Given the description of an element on the screen output the (x, y) to click on. 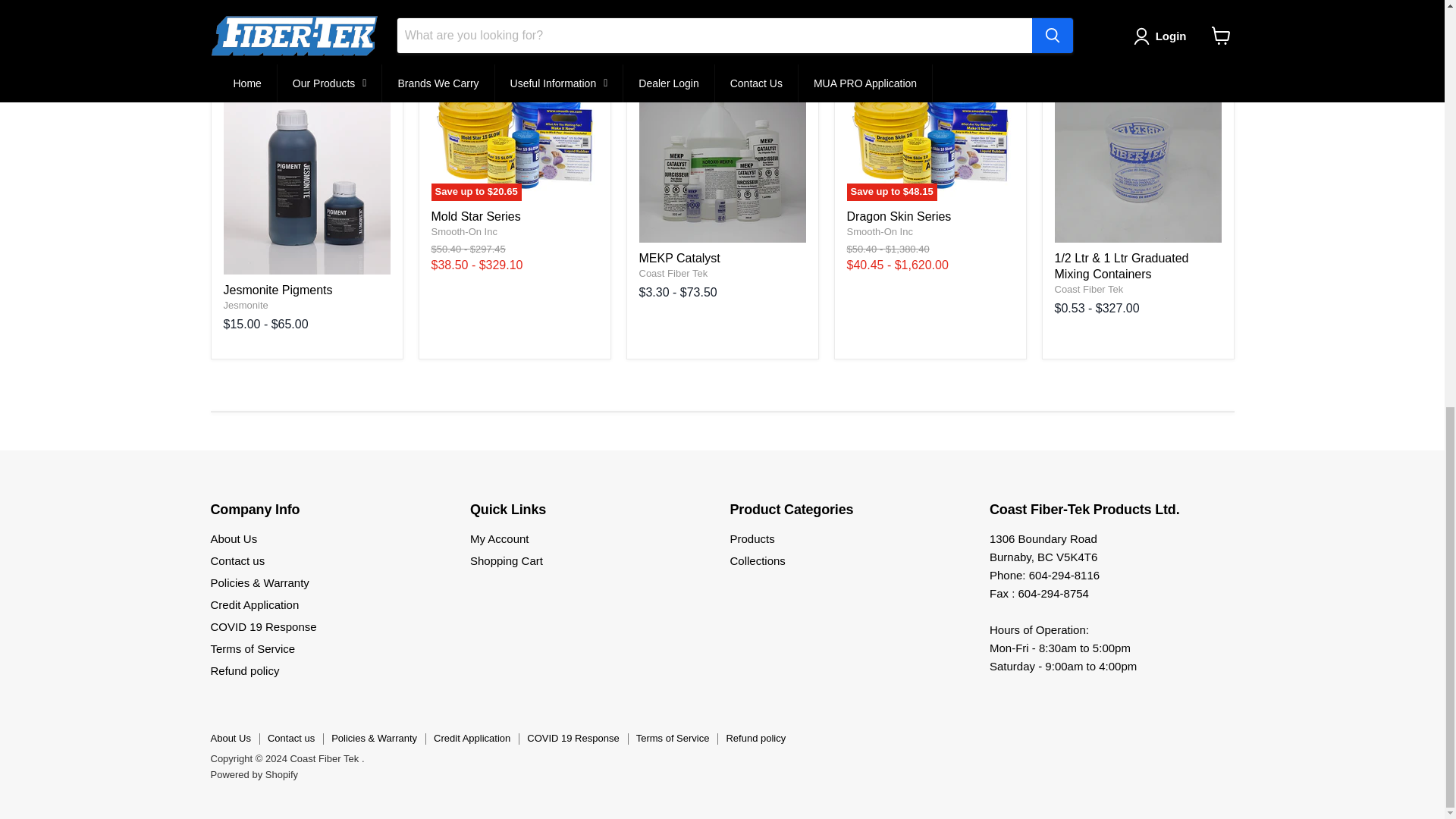
Coast Fiber Tek (1088, 288)
Coast Fiber Tek  (673, 273)
Smooth-On Inc (878, 231)
Jesmonite (244, 305)
Smooth-On Inc (463, 231)
